Given the description of an element on the screen output the (x, y) to click on. 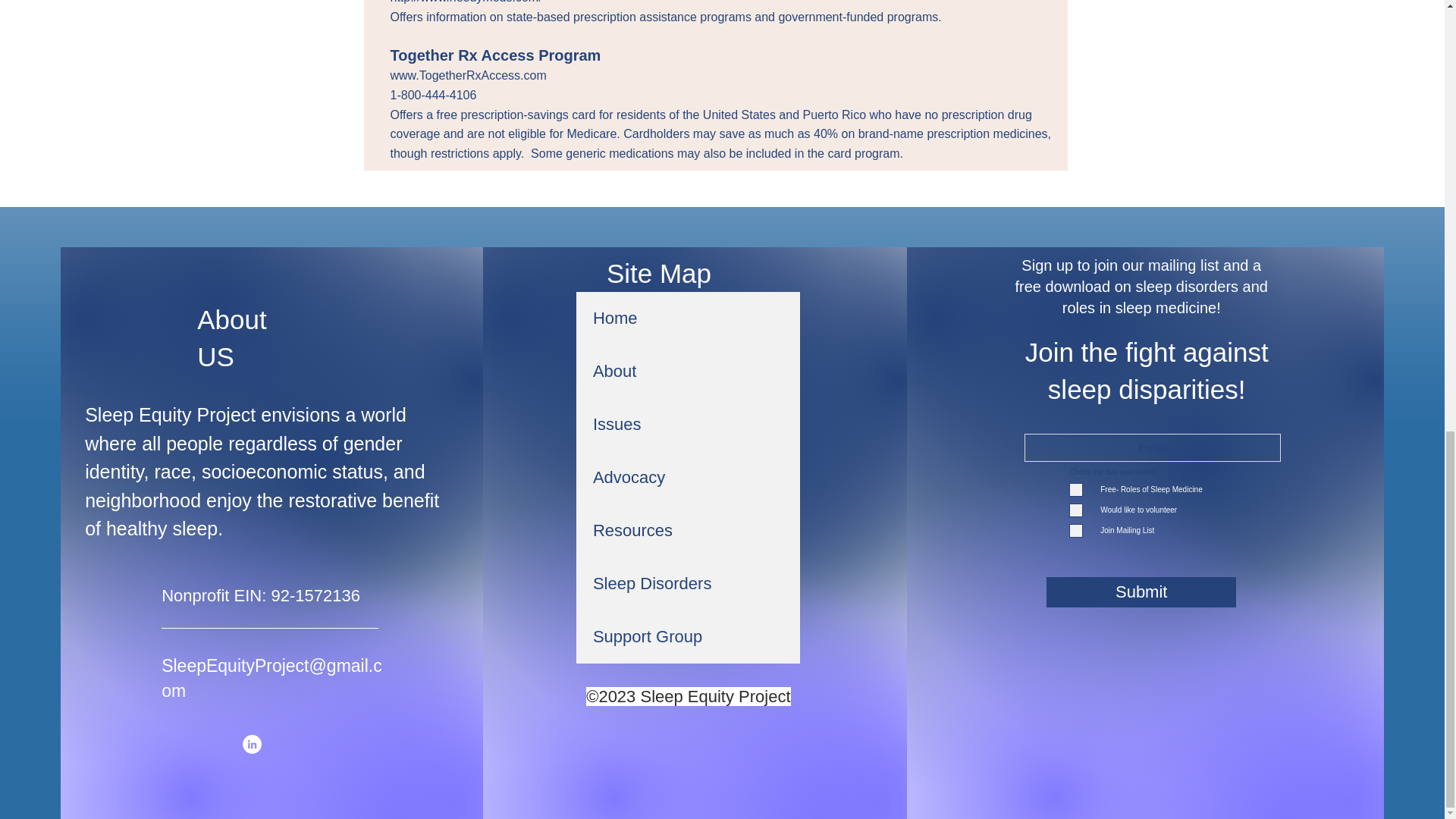
Issues (687, 424)
Sleep Disorders (687, 583)
Resources (687, 530)
Submit (1141, 592)
Advocacy (687, 477)
About (687, 371)
Home (687, 317)
Support Group (687, 636)
